Given the description of an element on the screen output the (x, y) to click on. 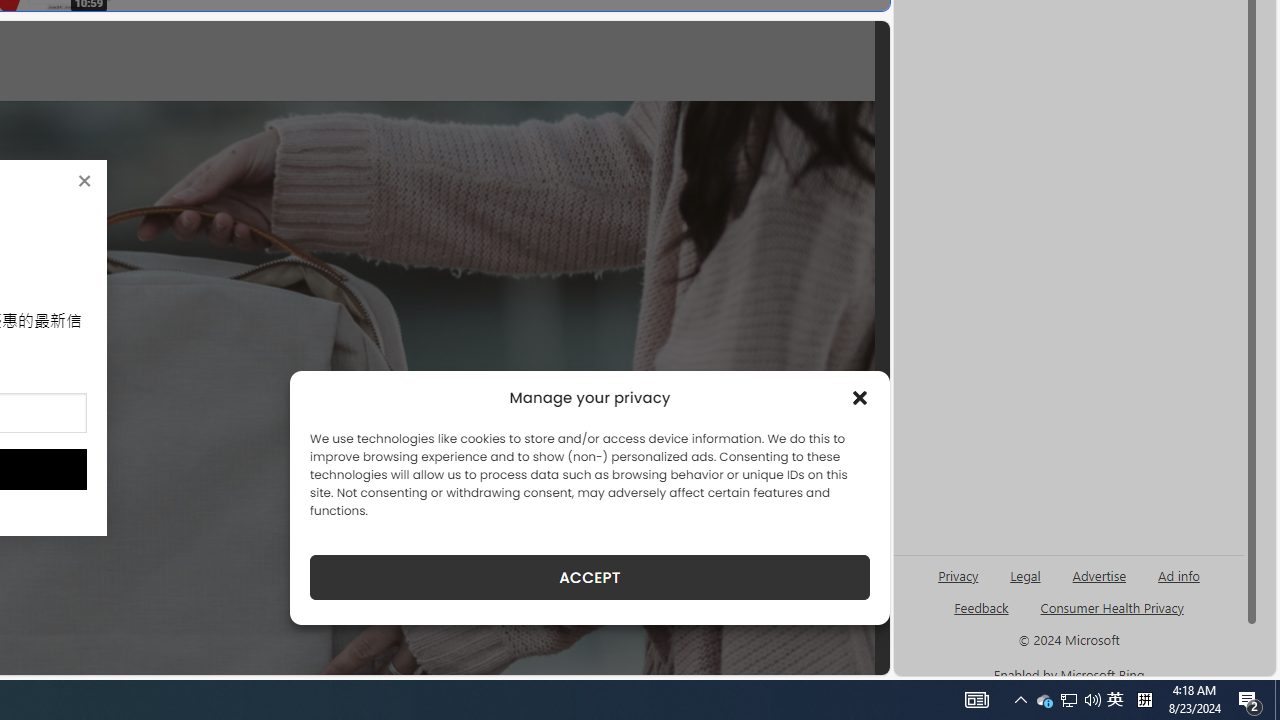
AutomationID: genId96 (981, 615)
AutomationID: sb_feedback (980, 607)
Class: cmplz-close (859, 398)
ACCEPT (589, 577)
